Given the description of an element on the screen output the (x, y) to click on. 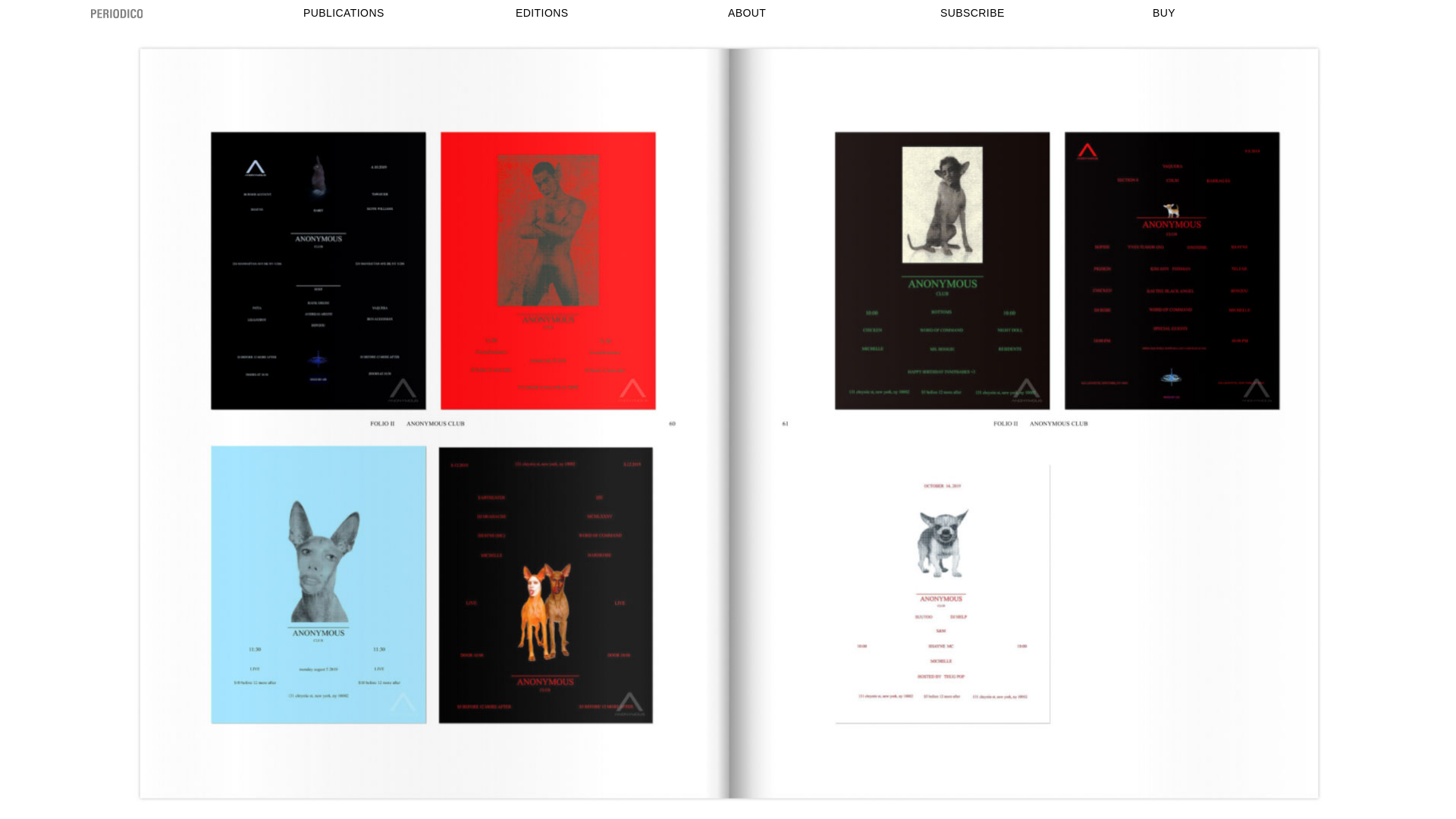
PERIODICO Element type: text (197, 13)
ABOUT Element type: text (746, 12)
BUY Element type: text (1163, 12)
PUBLICATIONS Element type: text (343, 12)
EDITIONS Element type: text (541, 12)
SUBSCRIBE Element type: text (972, 12)
